Given the description of an element on the screen output the (x, y) to click on. 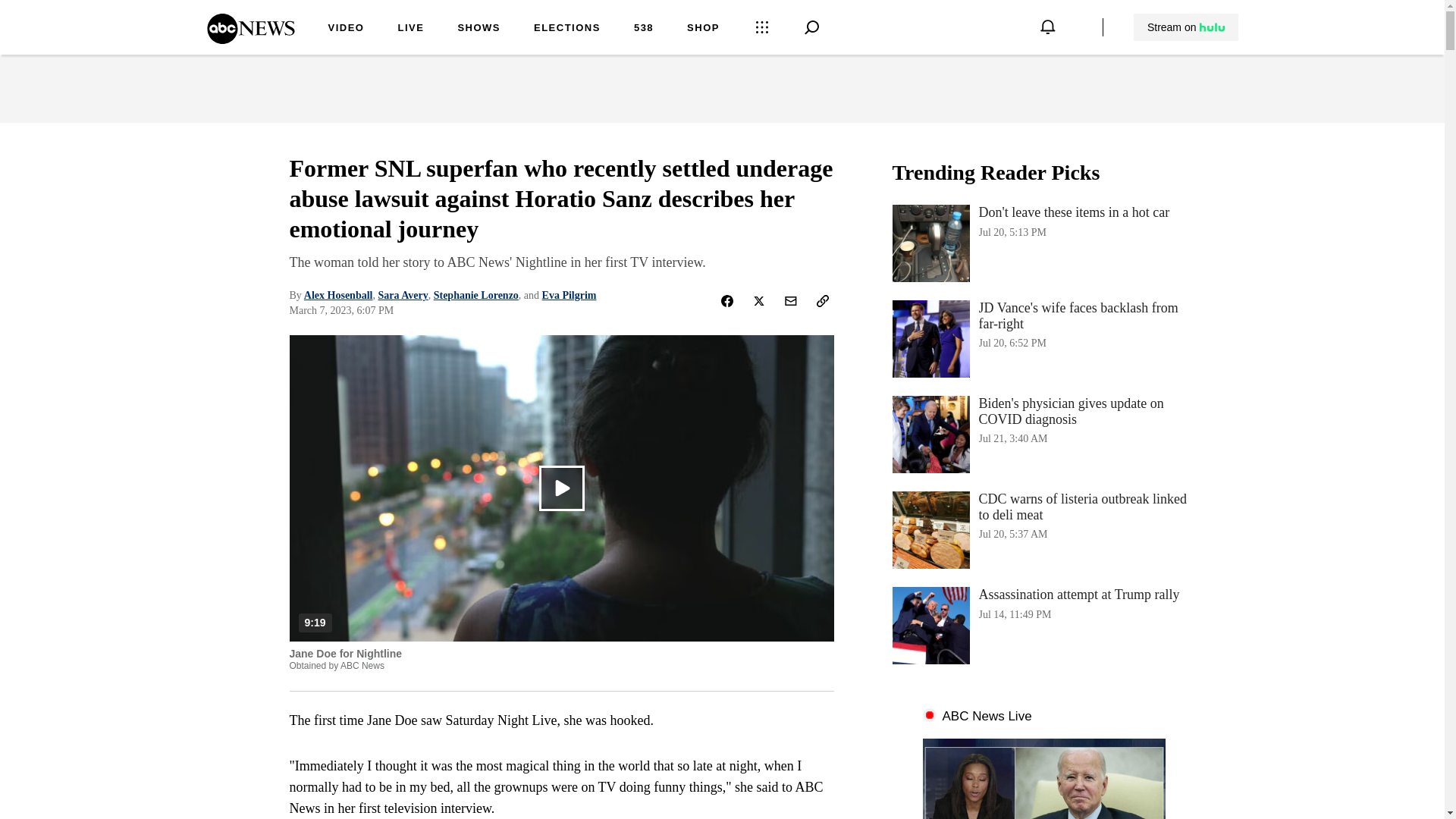
Alex Hosenball (338, 295)
538 (643, 28)
Sara Avery (402, 295)
Stephanie Lorenzo (475, 295)
ELECTIONS (566, 28)
ABC News (250, 38)
Eva Pilgrim (568, 295)
VIDEO (345, 28)
SHOWS (478, 28)
Stream on (1185, 27)
LIVE (410, 28)
SHOP (703, 28)
Stream on (1186, 26)
